Given the description of an element on the screen output the (x, y) to click on. 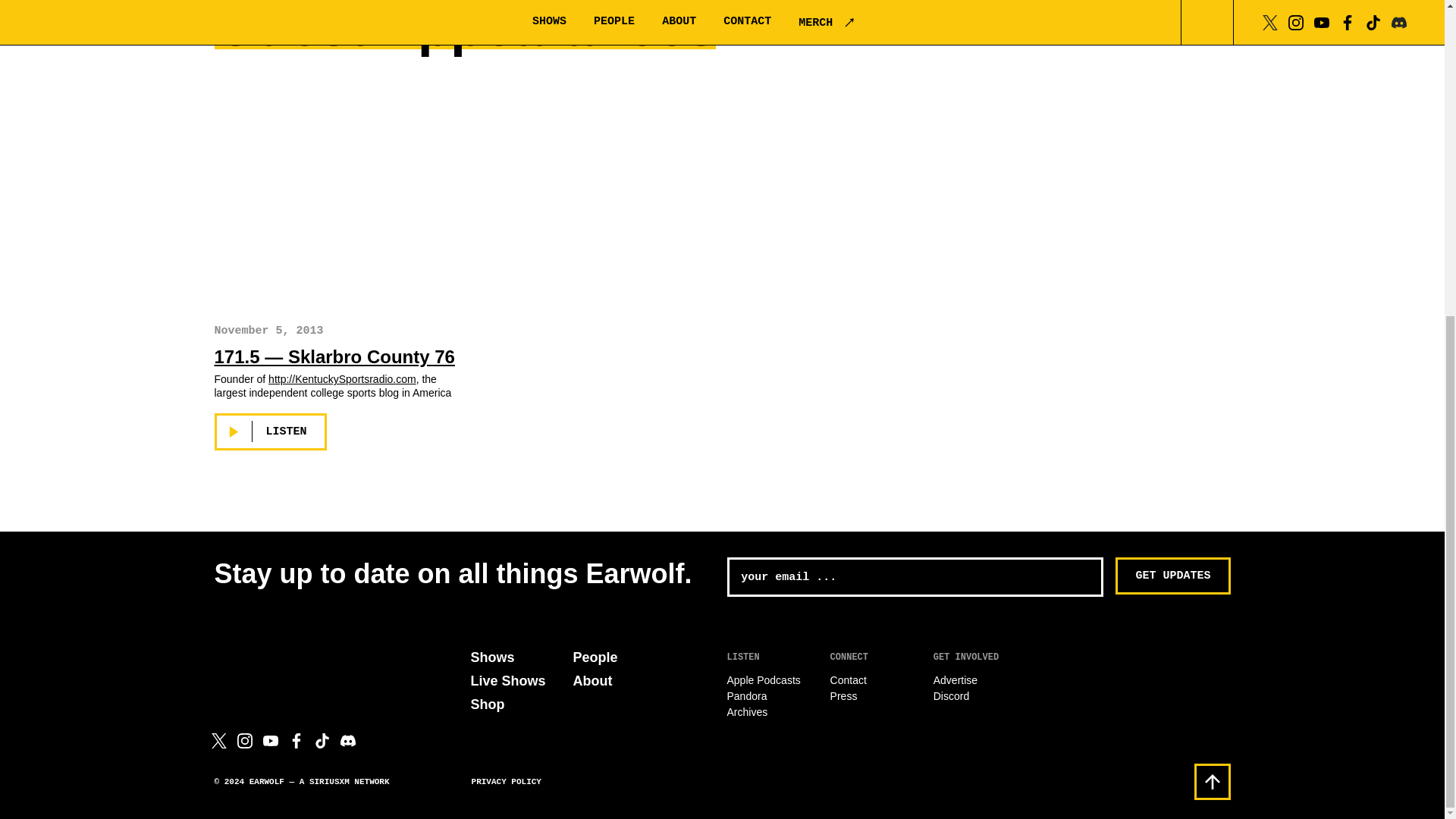
Shows (491, 657)
Pandora (746, 695)
Earwolf (283, 658)
Apple Podcasts (762, 680)
Shop (486, 703)
Get Updates (1172, 575)
Instagram (243, 740)
About (592, 680)
People (595, 657)
LISTEN (270, 431)
Get Updates (1172, 575)
Archives (746, 711)
Live Shows (507, 680)
